Given the description of an element on the screen output the (x, y) to click on. 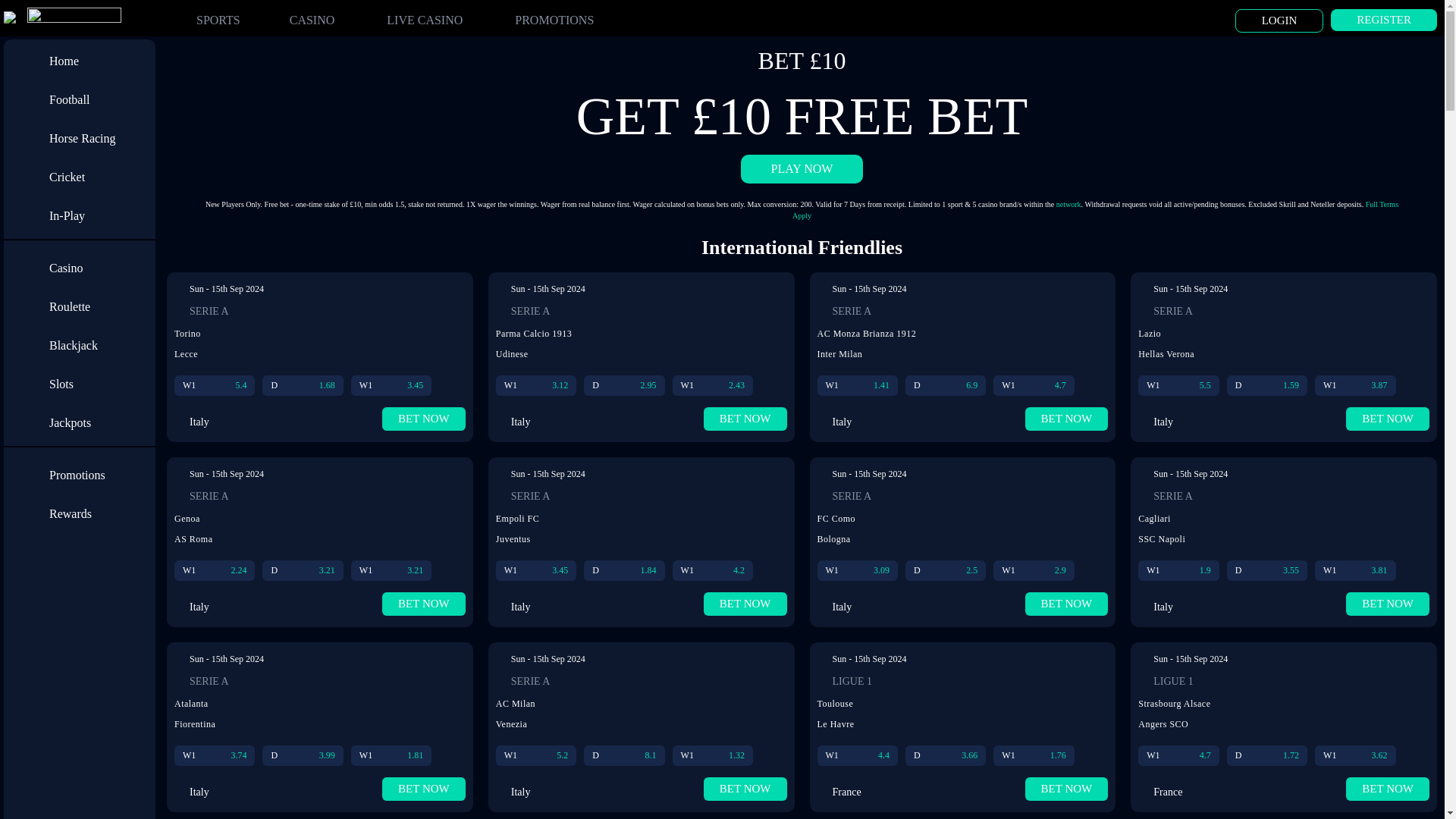
Slots (102, 384)
Blackjack (102, 345)
network (1069, 203)
Jackpots (102, 422)
Home (102, 60)
Roulette (102, 306)
PLAY NOW (802, 168)
Rewards (102, 513)
Cricket (102, 177)
Casino (102, 268)
